Given the description of an element on the screen output the (x, y) to click on. 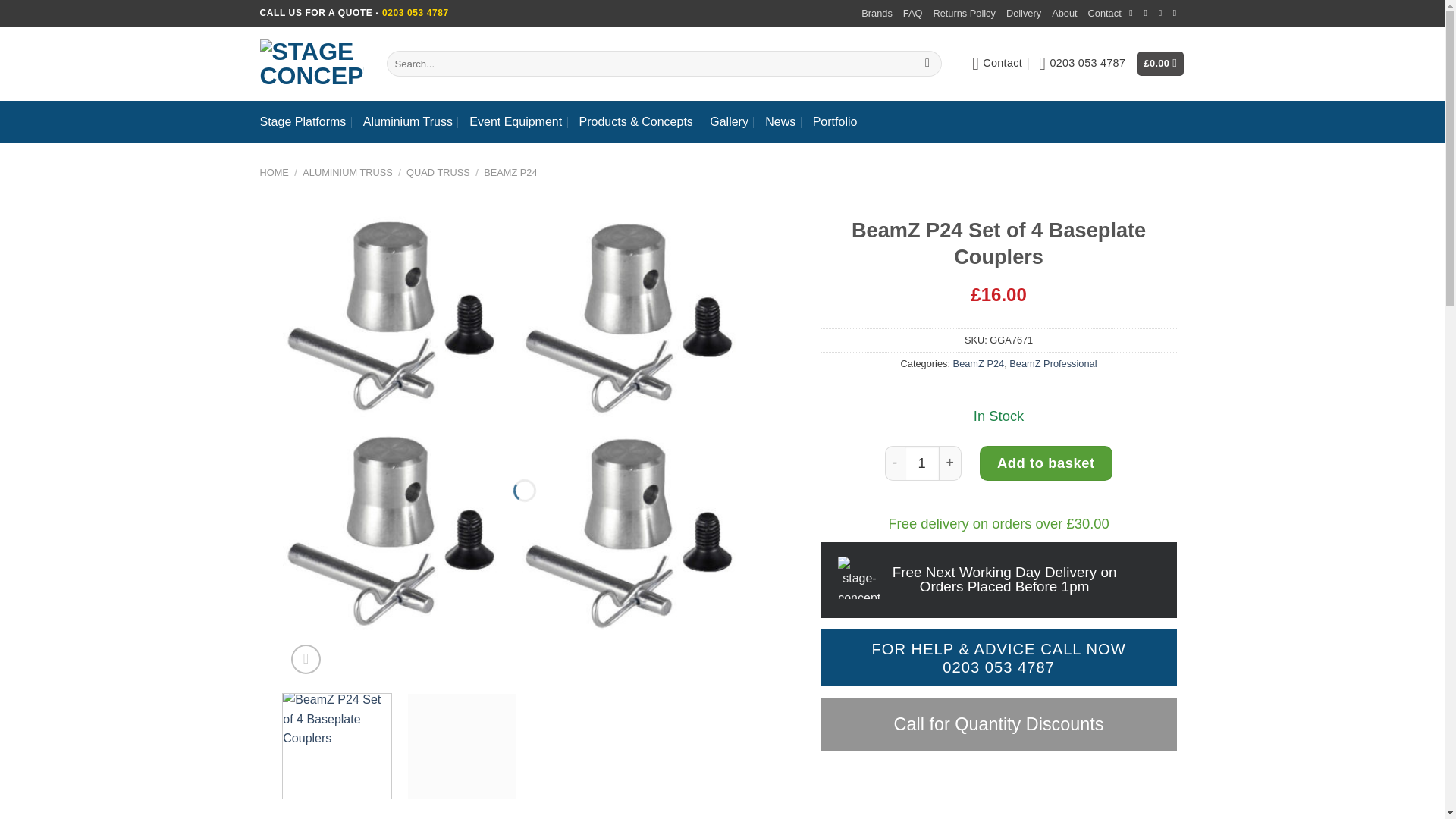
Aluminium Truss (407, 121)
Brands (876, 13)
Call us (1162, 12)
Search (927, 63)
0203 053 4787 (1082, 63)
Delivery (1023, 13)
Returns Policy (964, 13)
FAQ (912, 13)
Send us an email (1147, 12)
Stage Platforms (302, 121)
- (894, 462)
Contact (997, 63)
About (1064, 13)
Contact (1104, 13)
1 (921, 462)
